Given the description of an element on the screen output the (x, y) to click on. 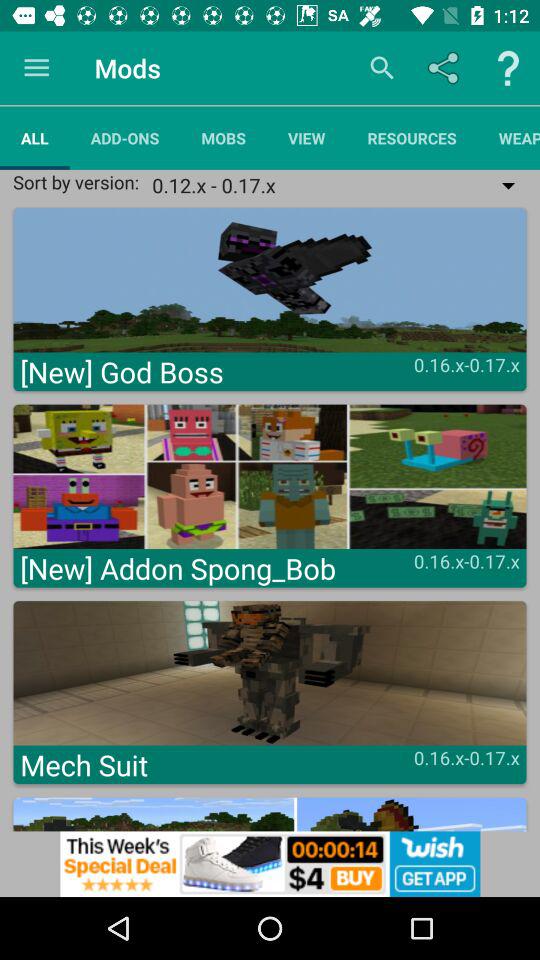
advertisement (270, 864)
